Given the description of an element on the screen output the (x, y) to click on. 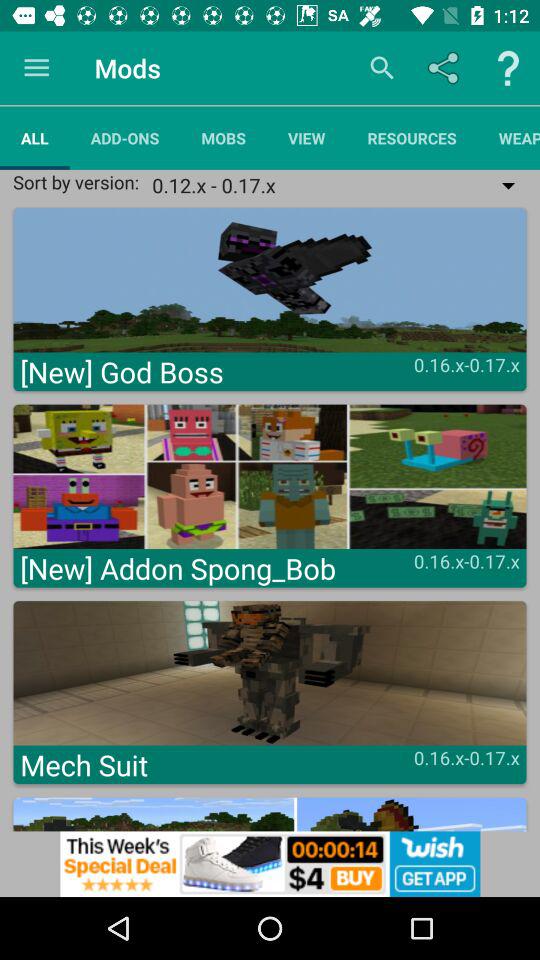
advertisement (270, 864)
